Given the description of an element on the screen output the (x, y) to click on. 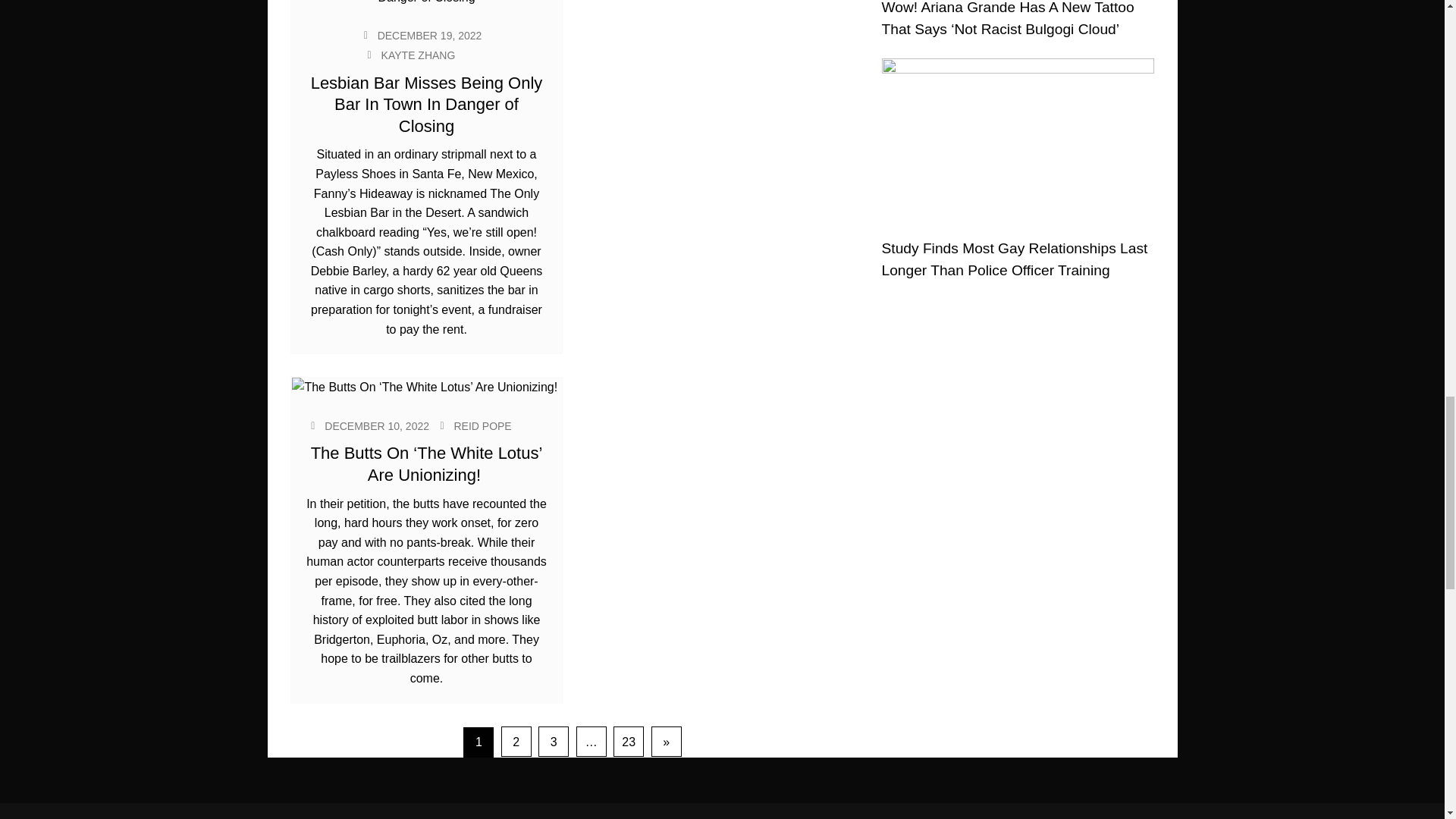
2 (515, 741)
DECEMBER 19, 2022 (429, 35)
DECEMBER 10, 2022 (376, 426)
REID POPE (481, 426)
23 (627, 741)
3 (553, 741)
KAYTE ZHANG (418, 55)
